Given the description of an element on the screen output the (x, y) to click on. 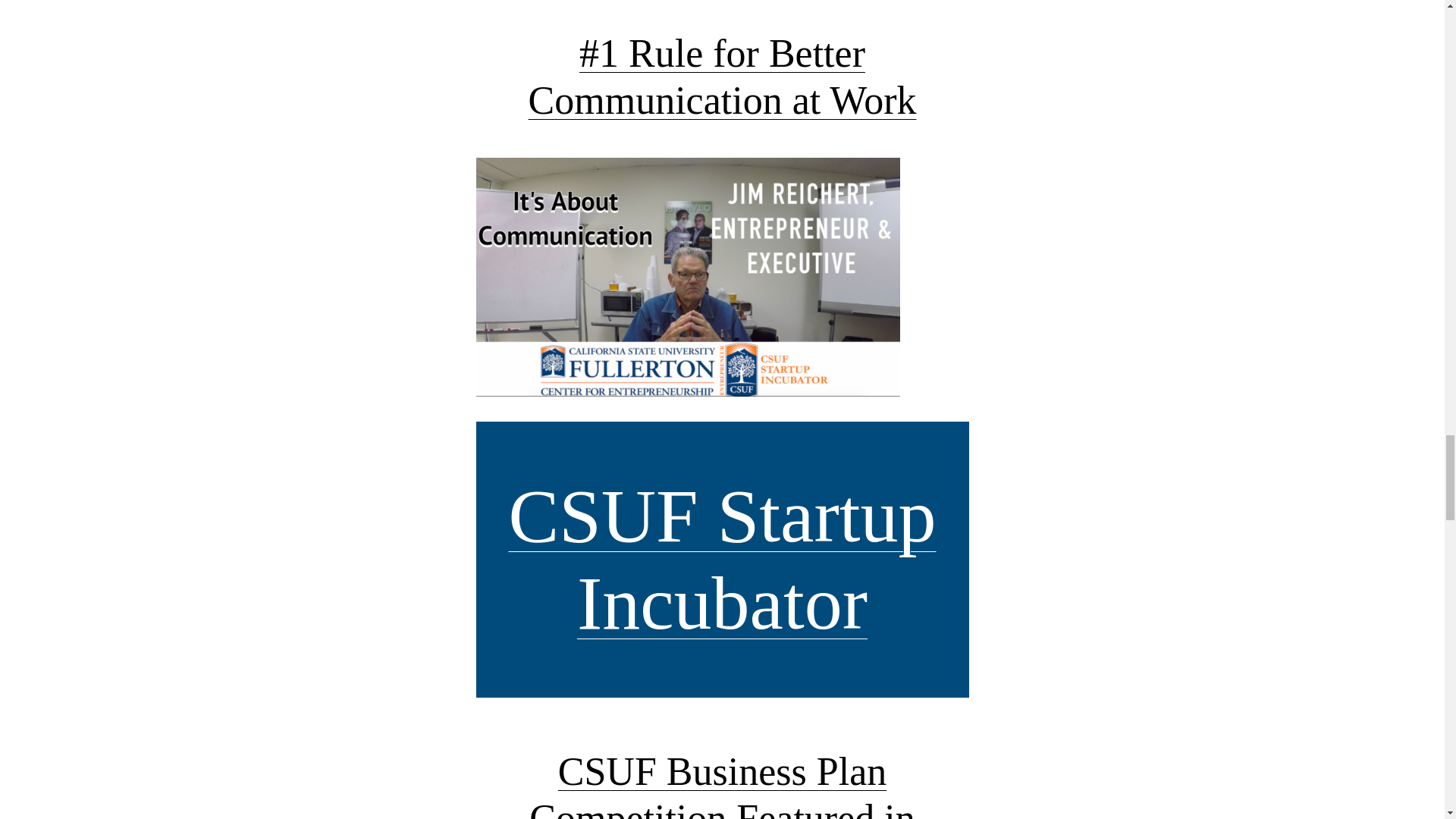
CSUF Startup Incubator (722, 559)
